Given the description of an element on the screen output the (x, y) to click on. 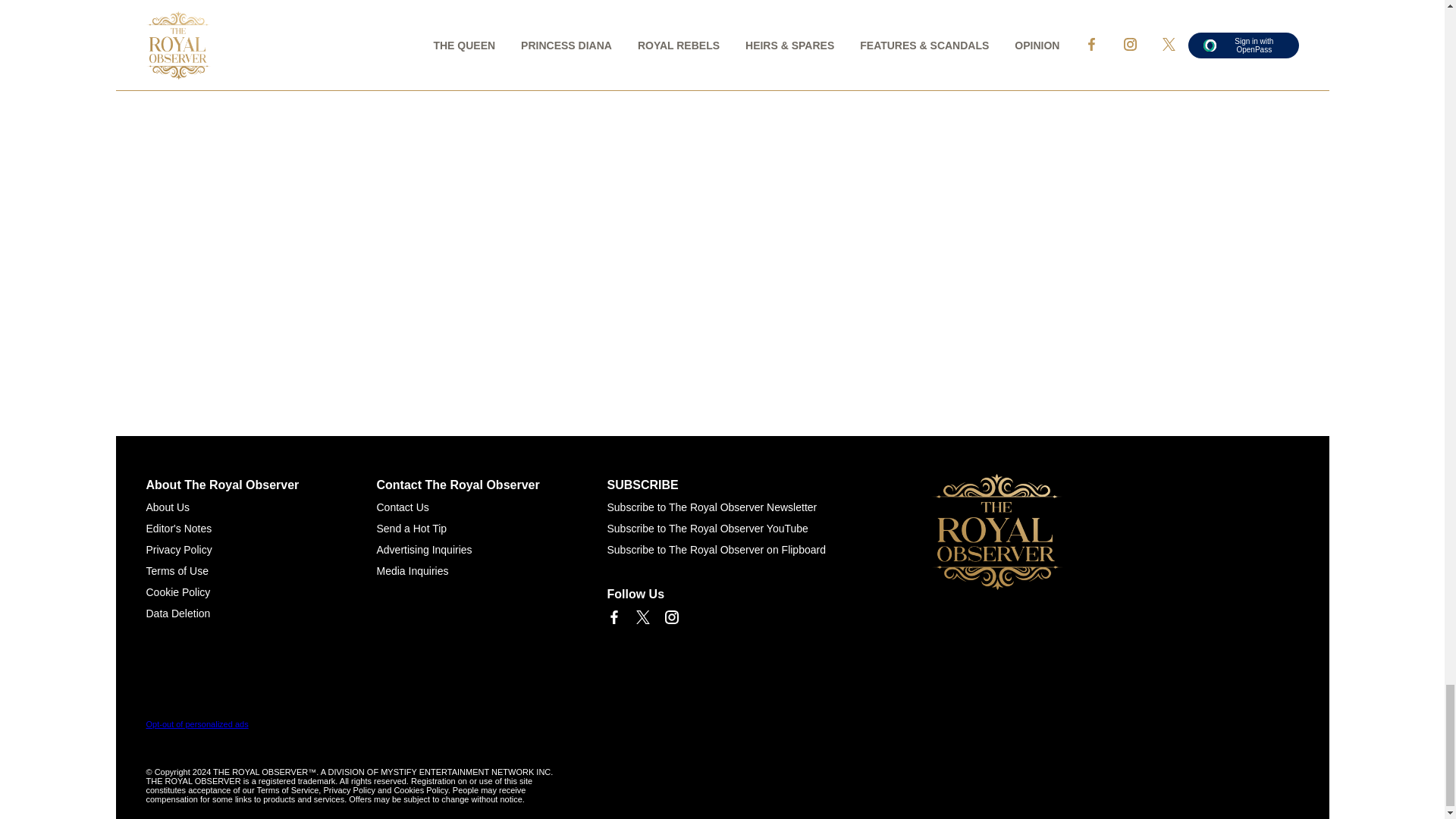
Data Deletion (177, 613)
About Us (167, 507)
Contact Us (401, 507)
Cookie Policy (177, 592)
Link to X (641, 617)
Editor's Notes (178, 528)
Terms of Use (176, 571)
Privacy Policy (178, 549)
Link to Instagram (670, 617)
Send a Hot Tip (410, 528)
Link to Facebook (613, 617)
